Given the description of an element on the screen output the (x, y) to click on. 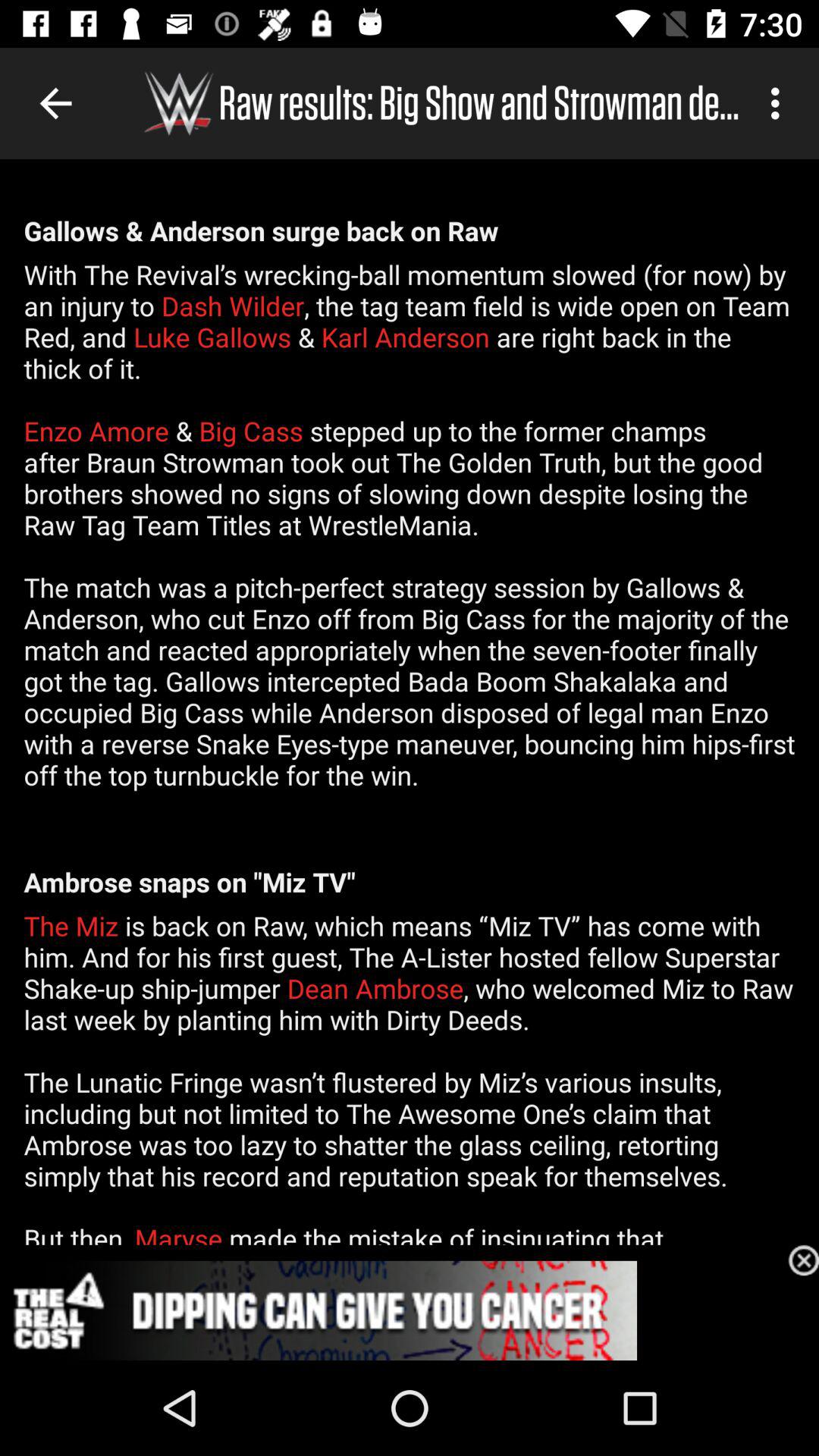
open advertisement (409, 1310)
